Given the description of an element on the screen output the (x, y) to click on. 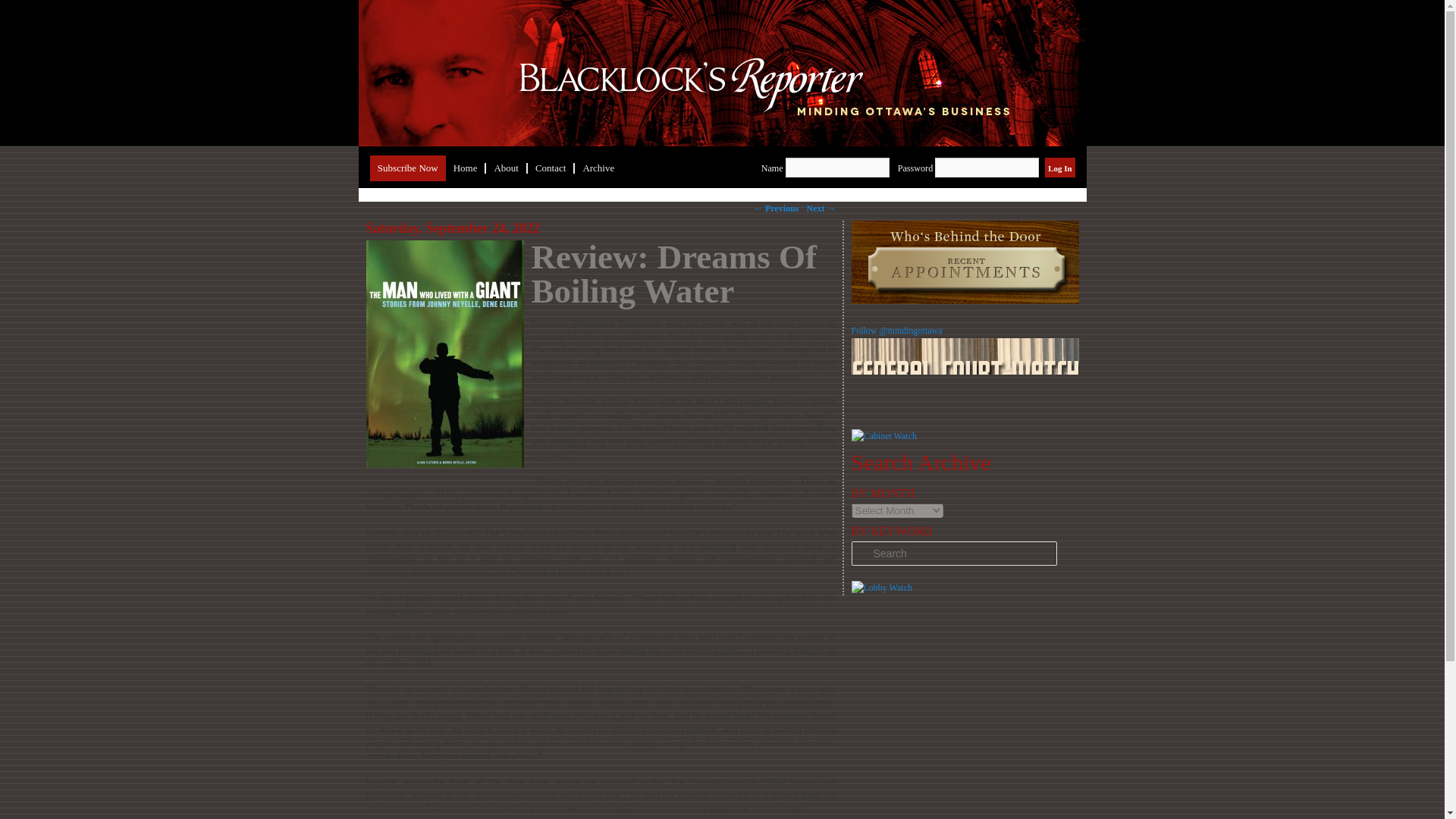
Archive (598, 167)
Home (465, 167)
Skip to primary content (425, 167)
Search (21, 11)
Subscribe Now (407, 167)
Saturday, September 24, 2022 (451, 227)
Permalink to Review: Dreams Of Boiling Water (673, 274)
Skip to primary content (425, 167)
Review: Dreams Of Boiling Water (673, 274)
Contact (551, 167)
About (506, 167)
1:07 am (451, 227)
Log In (1059, 167)
Skip to secondary content (430, 167)
Skip to secondary content (430, 167)
